Given the description of an element on the screen output the (x, y) to click on. 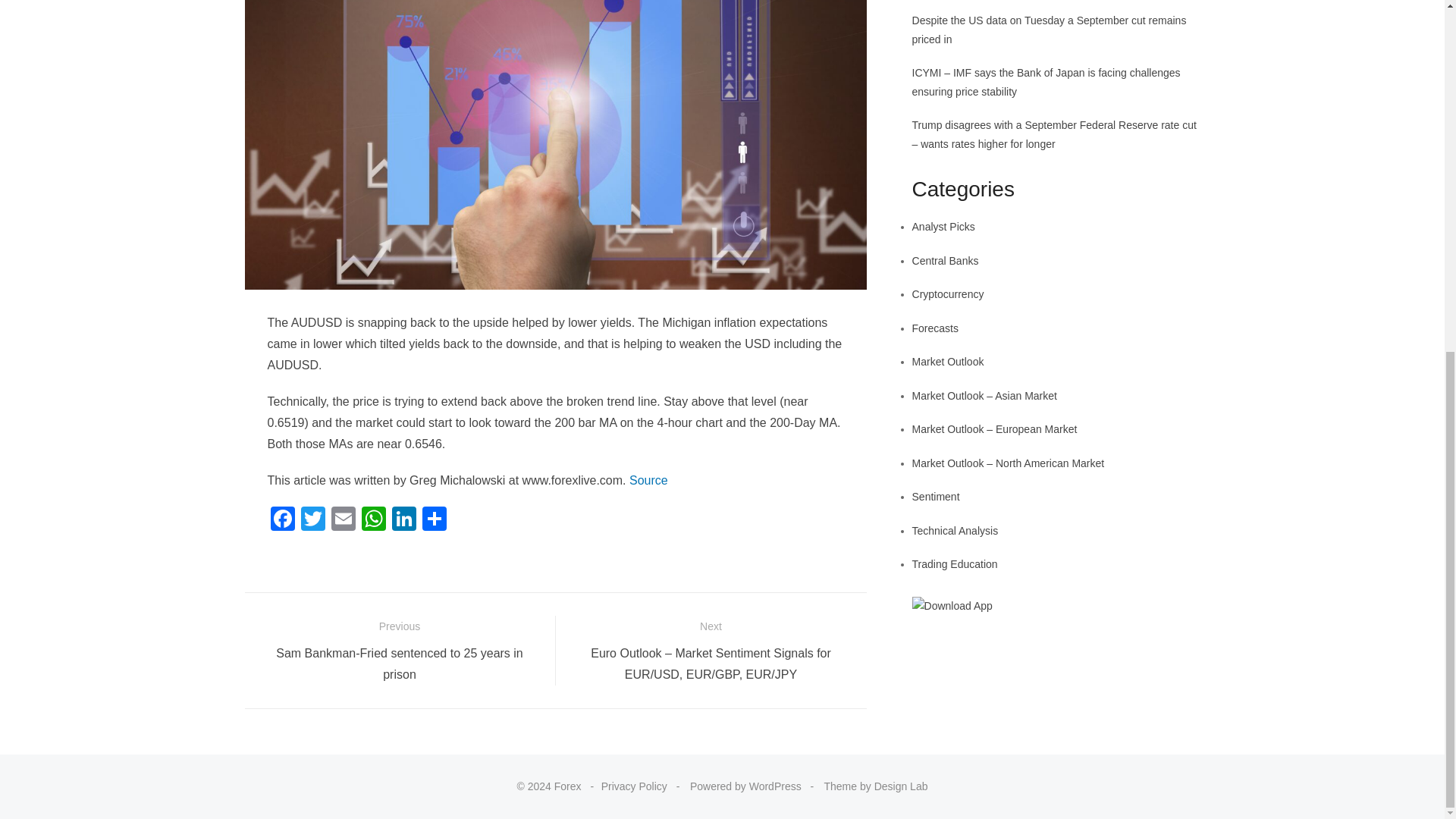
Email (342, 520)
Twitter (312, 520)
Source (648, 480)
Twitter (312, 520)
Analyst Picks (943, 226)
WhatsApp (373, 520)
Facebook (281, 520)
Email (342, 520)
WhatsApp (373, 520)
LinkedIn (403, 520)
Facebook (281, 520)
LinkedIn (403, 520)
